Given the description of an element on the screen output the (x, y) to click on. 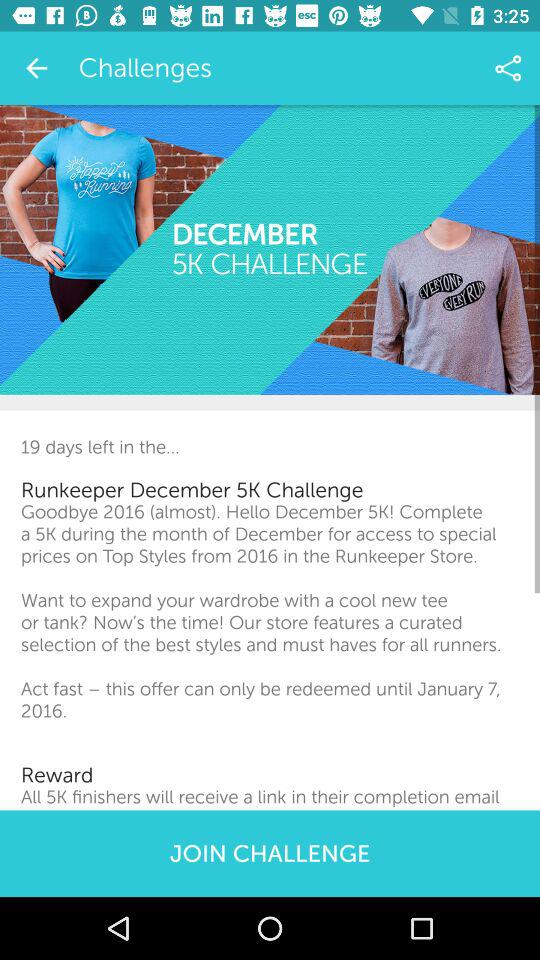
flip until join challenge item (270, 853)
